Given the description of an element on the screen output the (x, y) to click on. 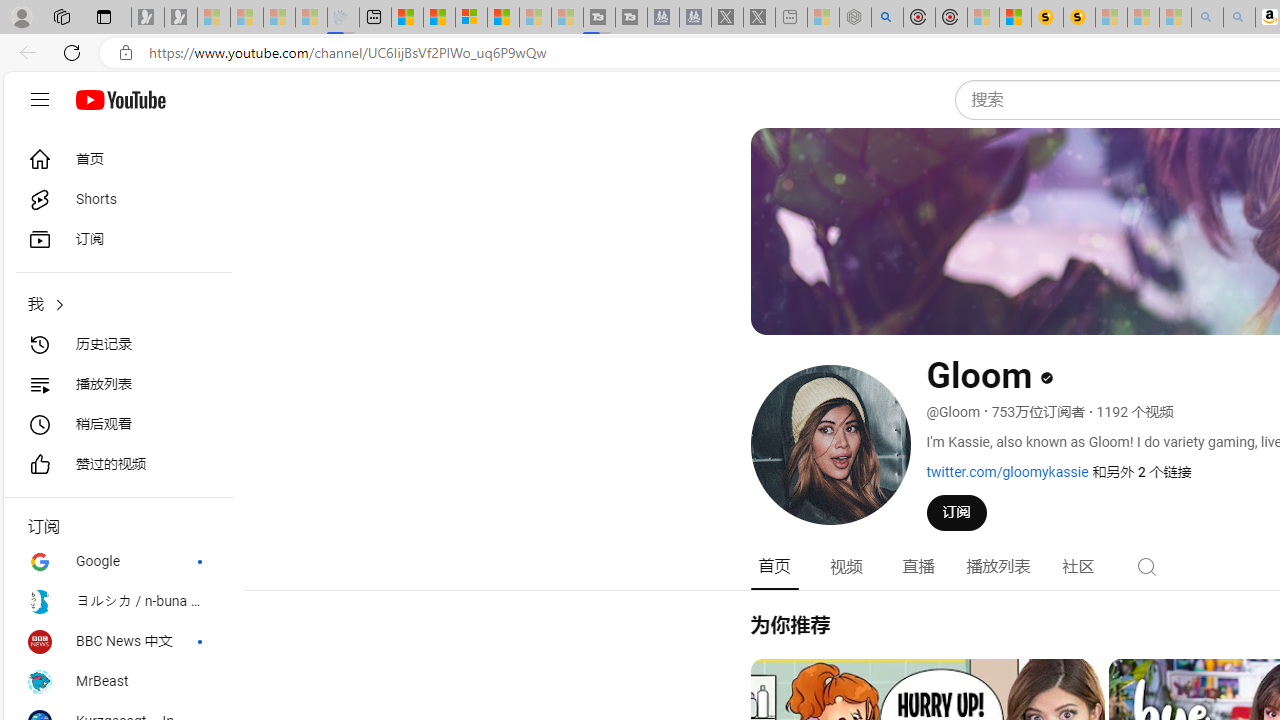
Back (24, 52)
Tab actions menu (104, 16)
Streaming Coverage | T3 - Sleeping (599, 17)
Microsoft Start - Sleeping (535, 17)
Personal Profile (21, 16)
Amazon Echo Dot PNG - Search Images - Sleeping (1239, 17)
